Given the description of an element on the screen output the (x, y) to click on. 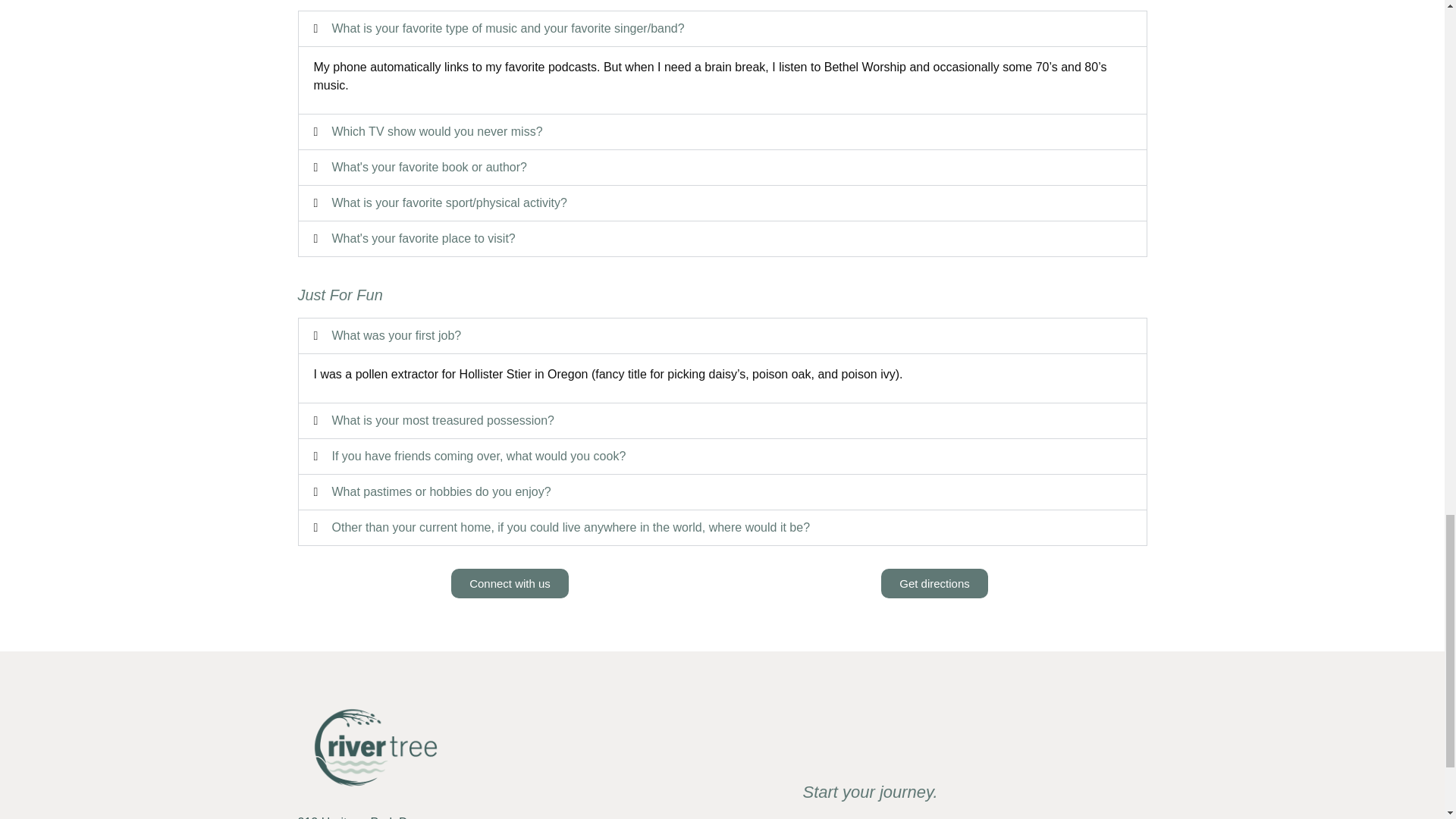
What pastimes or hobbies do you enjoy? (441, 491)
Get directions (934, 583)
What is your most treasured possession? (442, 420)
What's your favorite place to visit? (423, 237)
What's your favorite book or author? (429, 166)
If you have friends coming over, what would you cook? (478, 455)
Connect with us (510, 583)
Which TV show would you never miss? (437, 131)
What was your first job? (396, 335)
